Given the description of an element on the screen output the (x, y) to click on. 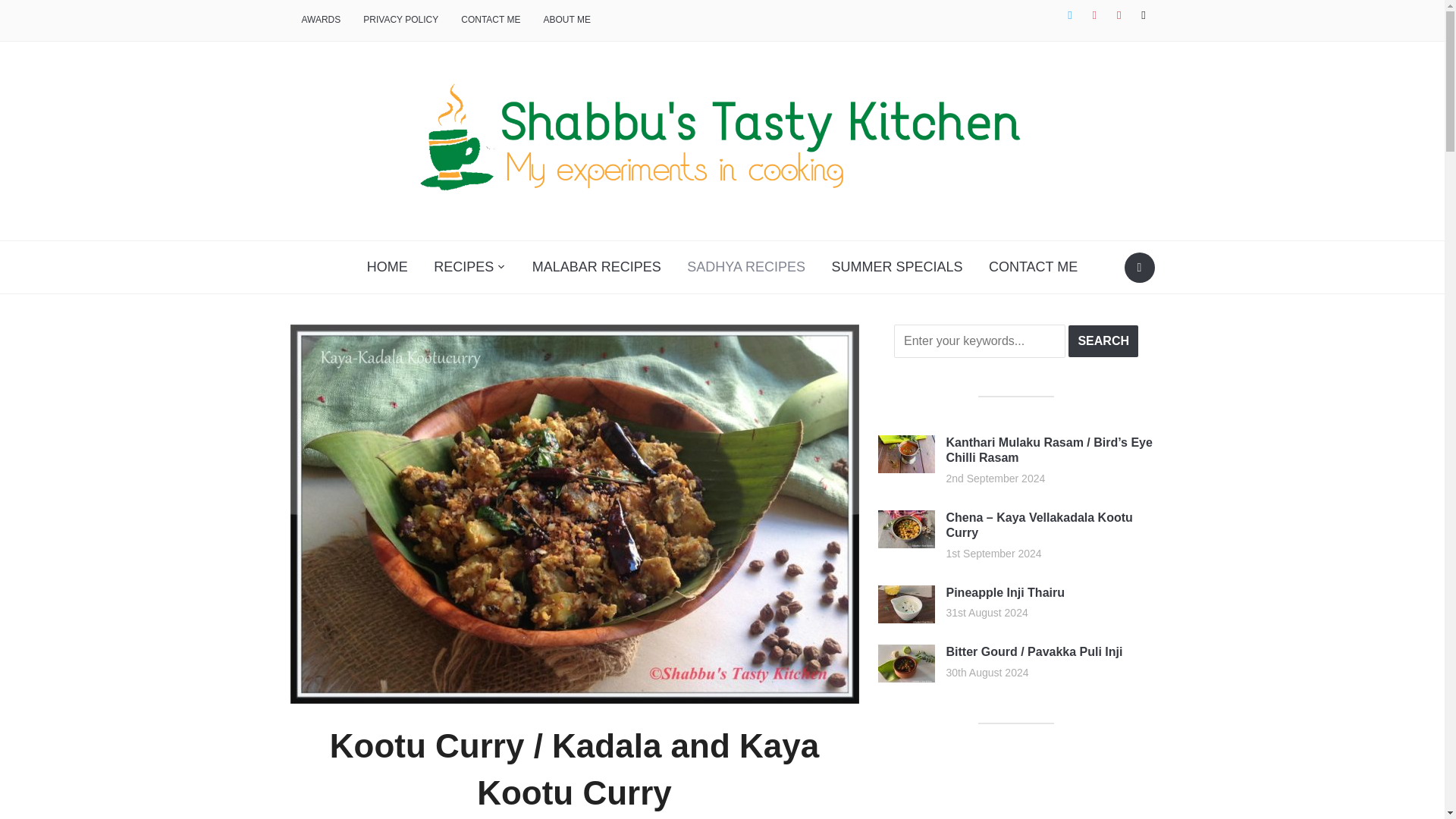
CONTACT ME (490, 20)
Default Label (1118, 14)
Instagram (1094, 14)
Twitter (1069, 14)
Search (1103, 341)
Search (1103, 341)
ABOUT ME (566, 20)
AWARDS (320, 20)
Default Label (1143, 14)
Search (1139, 267)
